Given the description of an element on the screen output the (x, y) to click on. 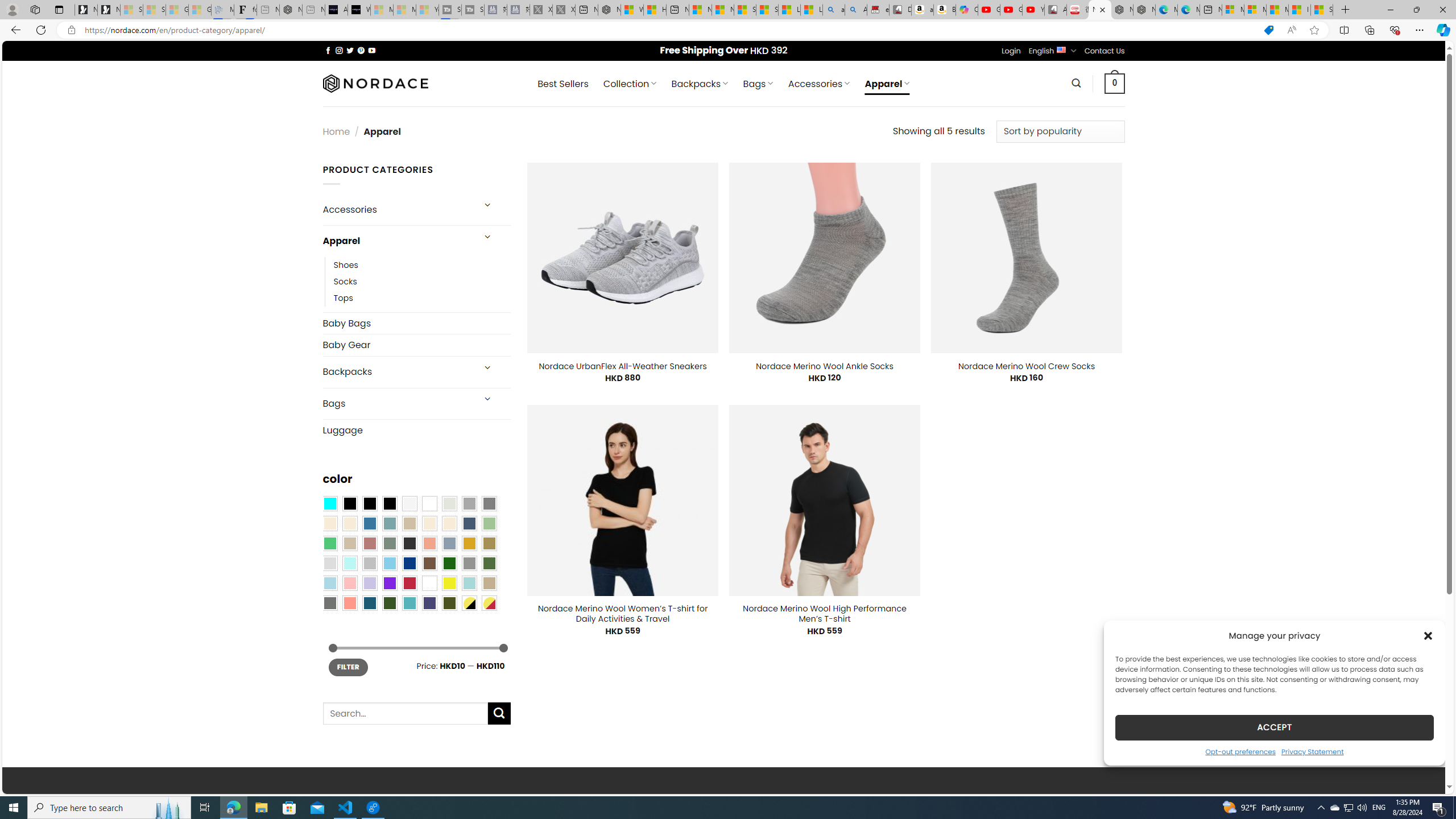
Navy Blue (408, 562)
amazon.in/dp/B0CX59H5W7/?tag=gsmcom05-21 (923, 9)
Black-Brown (389, 503)
All Gray (488, 503)
Khaki (488, 582)
Socks (344, 280)
Pearly White (408, 503)
Baby Bags (416, 323)
